Given the description of an element on the screen output the (x, y) to click on. 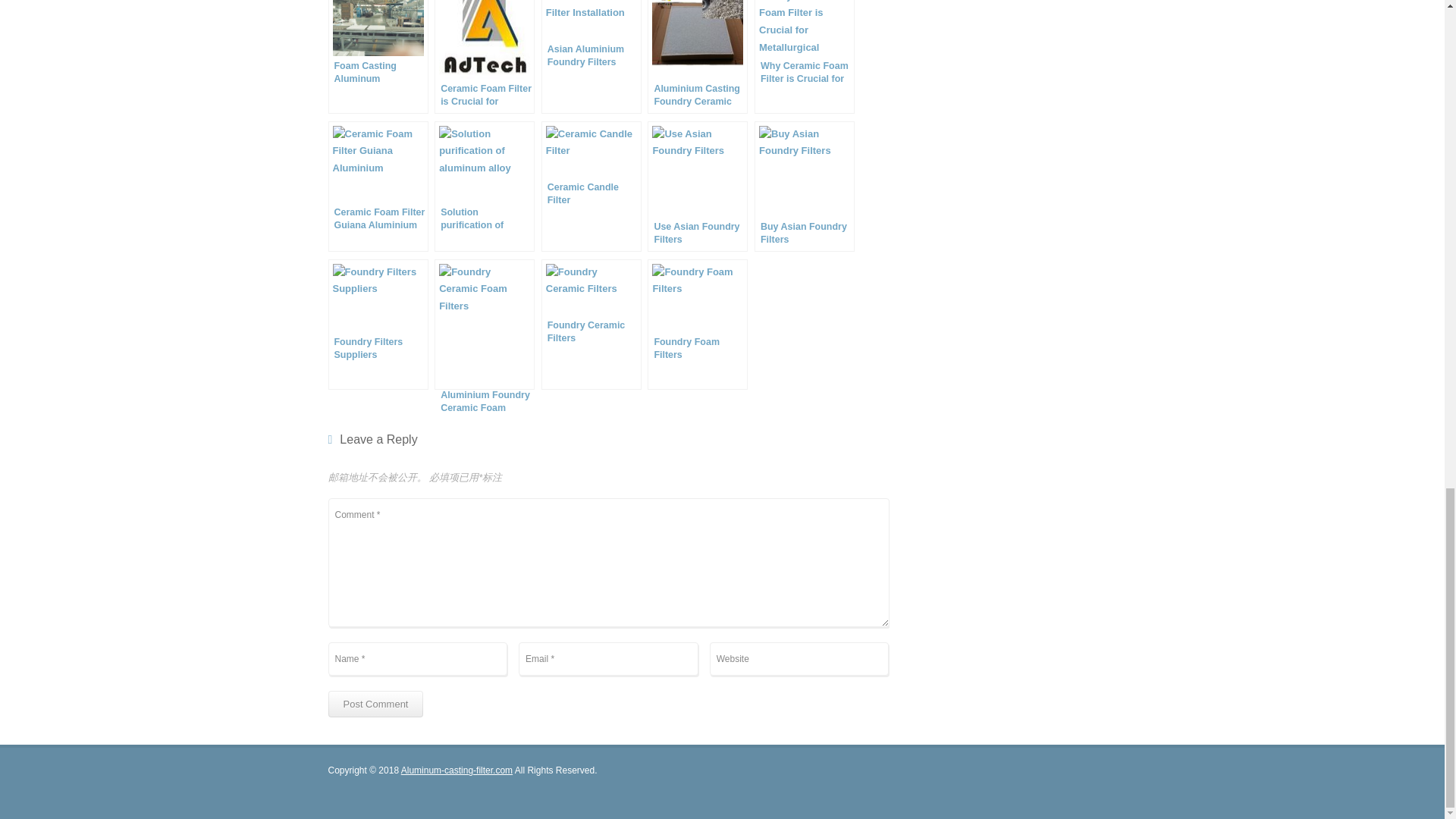
Aluminum-casting-filter.com (456, 769)
Post Comment (375, 704)
Post Comment (375, 704)
Website (799, 658)
